Given the description of an element on the screen output the (x, y) to click on. 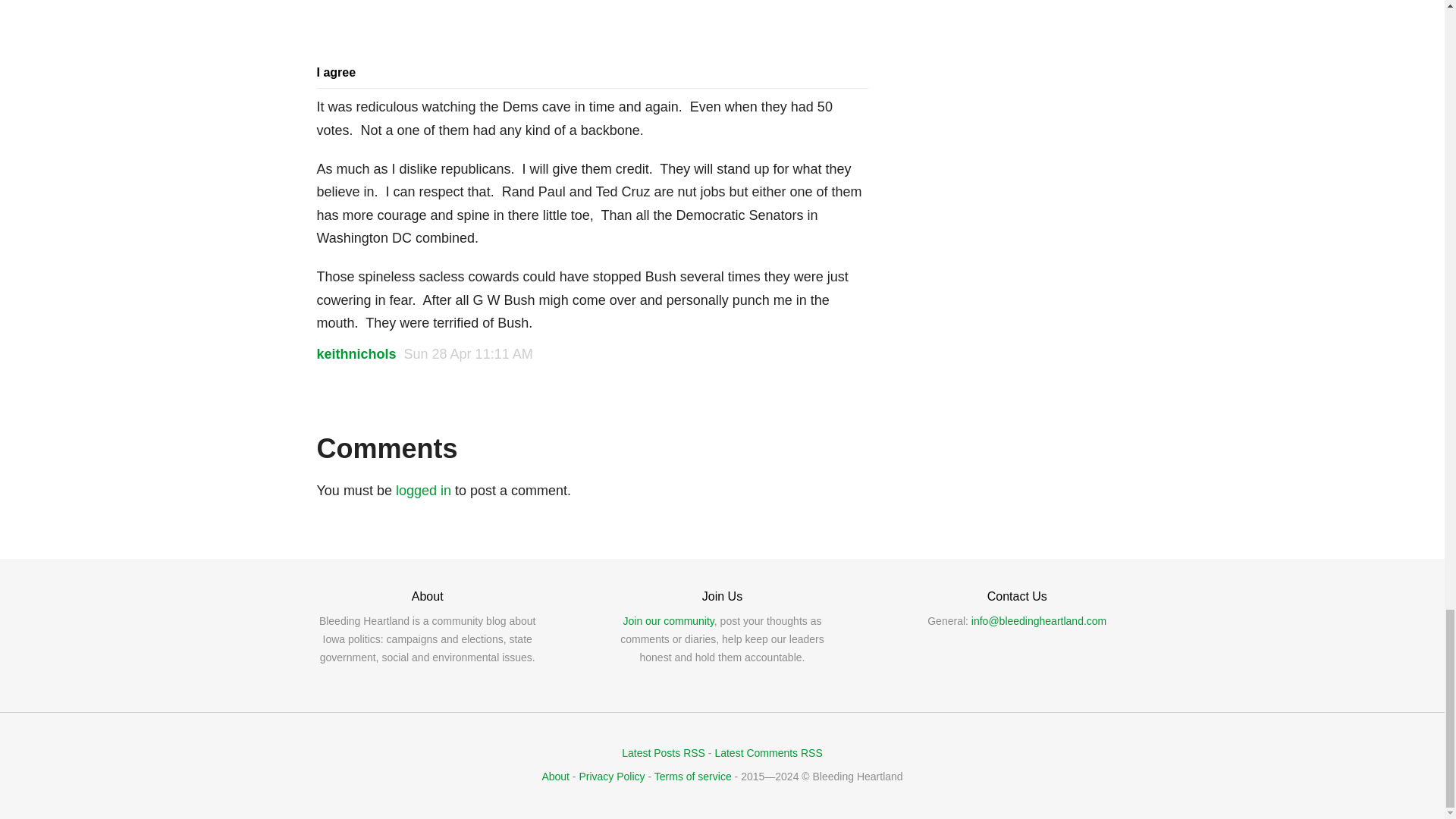
Comment Permalink (468, 353)
